Given the description of an element on the screen output the (x, y) to click on. 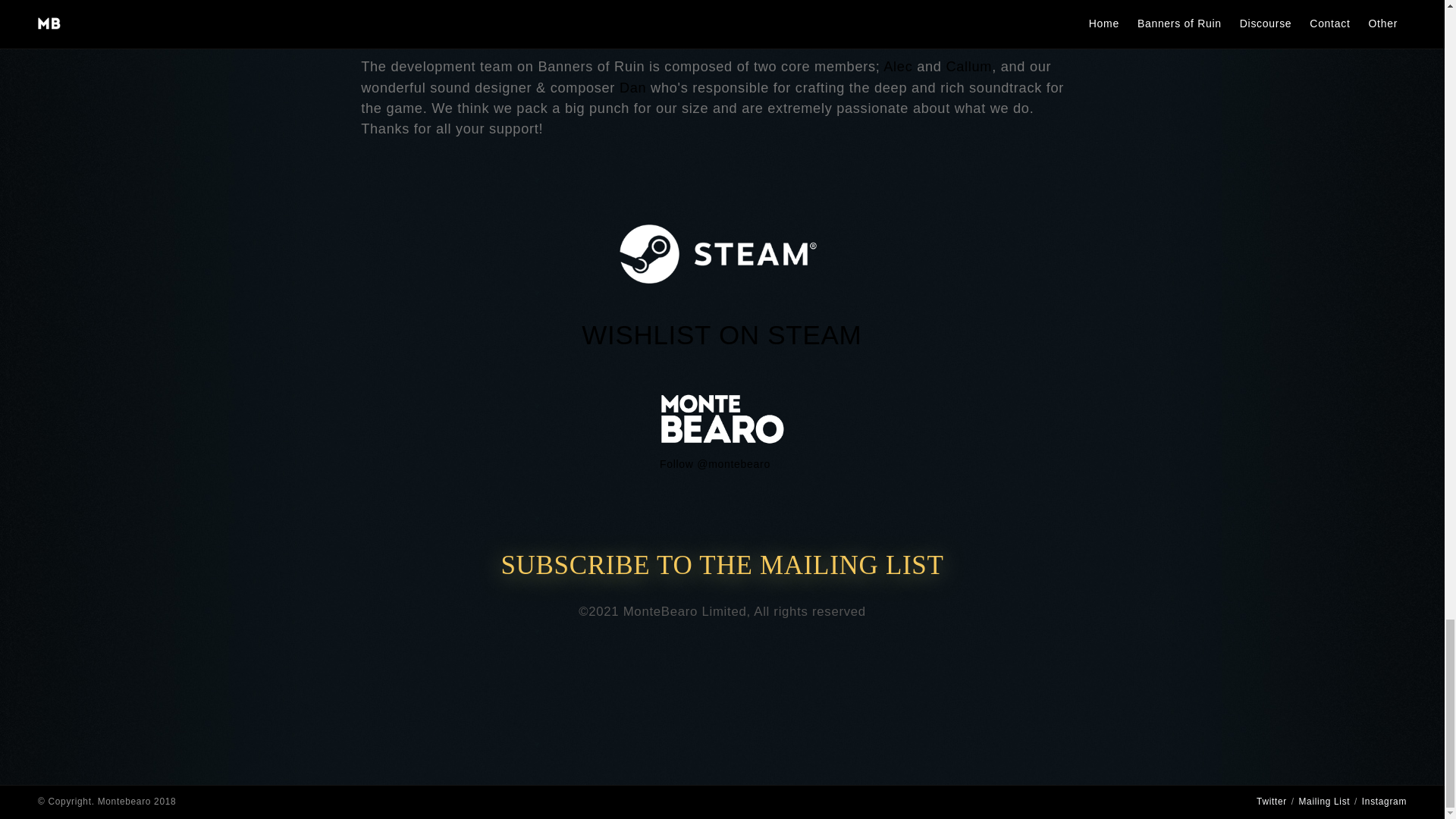
WISHLIST ON STEAM (720, 334)
Callum (967, 66)
Alec (897, 66)
Dan (633, 87)
SUBSCRIBE TO THE MAILING LIST (721, 564)
